Given the description of an element on the screen output the (x, y) to click on. 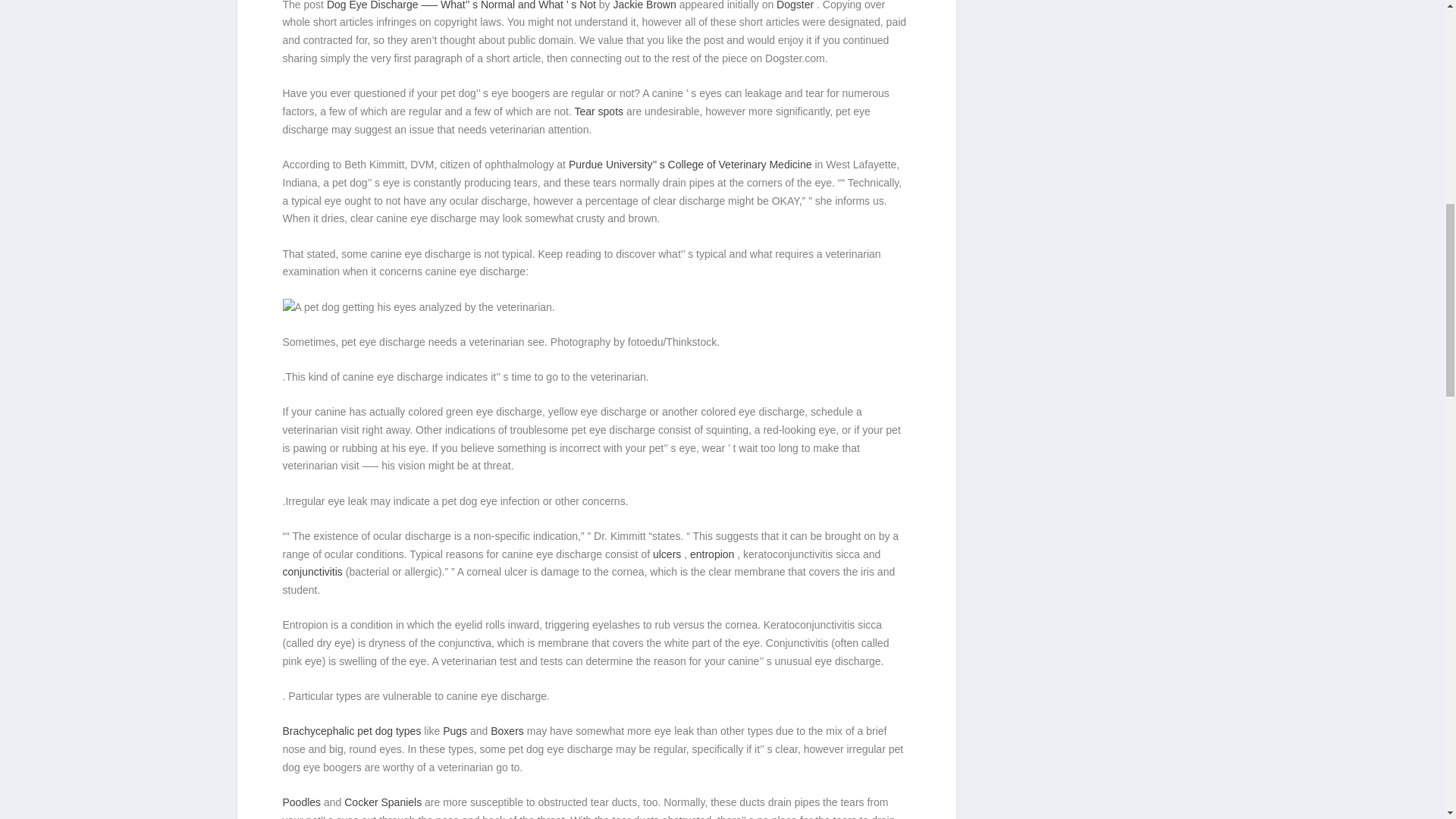
Dogster (796, 5)
Poodles (302, 802)
ulcers (668, 553)
Cocker Spaniels (384, 802)
Pugs (456, 730)
 Health Issues for Brachycephalic or Flat-Faced Dogs (352, 730)
Tear spots (599, 111)
conjunctivitis (313, 571)
entropion (713, 553)
Beth Kimmitt (418, 307)
Boxers (507, 730)
Brachycephalic pet dog types (352, 730)
Jackie Brown (645, 5)
